Given the description of an element on the screen output the (x, y) to click on. 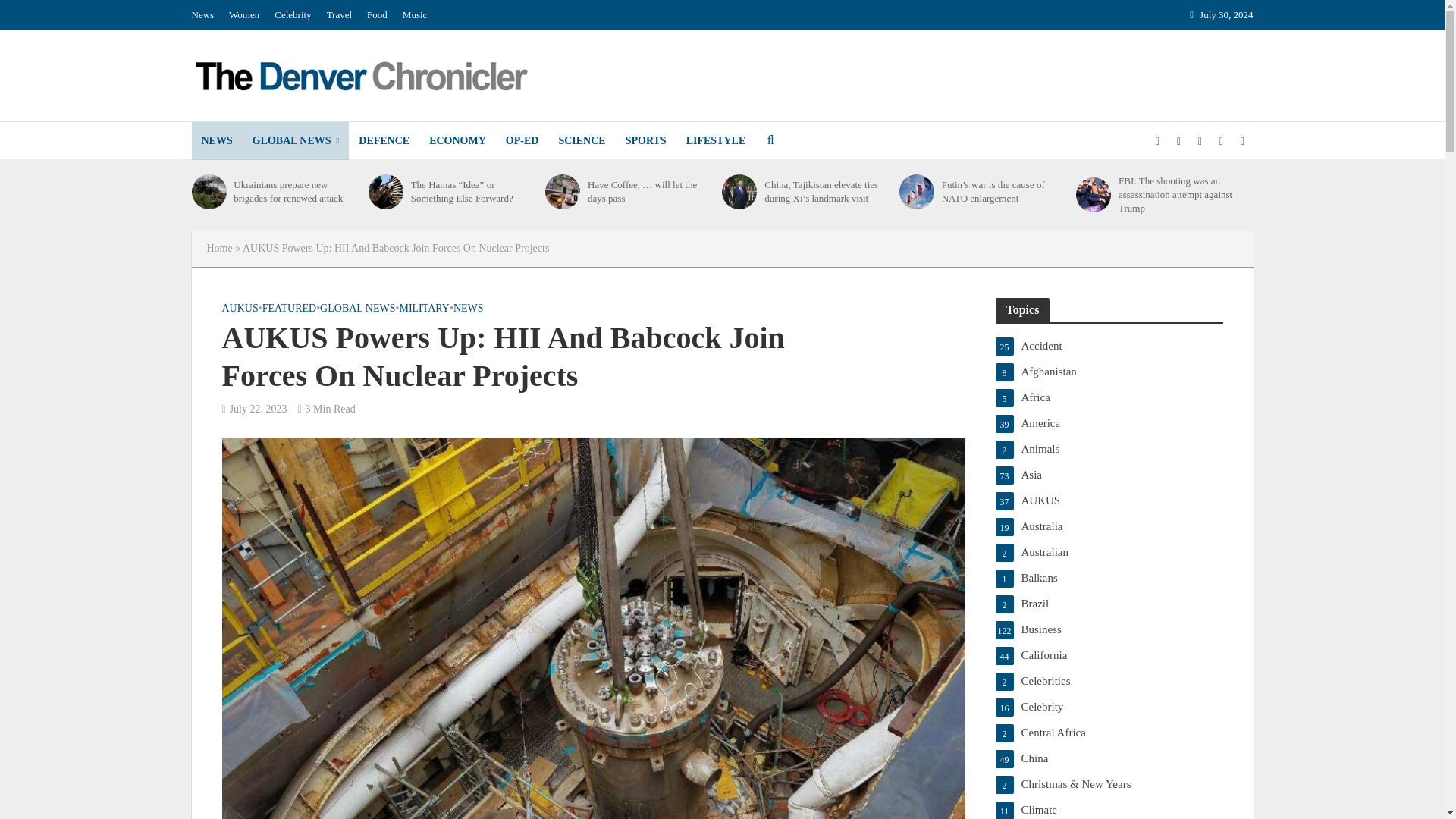
Women (243, 15)
Ukrainians prepare new brigades for renewed attack (207, 191)
Celebrity (292, 15)
NEWS (215, 140)
FBI: The shooting was an assassination attempt against Trump (1092, 194)
News (205, 15)
Food (376, 15)
GLOBAL NEWS (296, 140)
Travel (338, 15)
Music (414, 15)
